Given the description of an element on the screen output the (x, y) to click on. 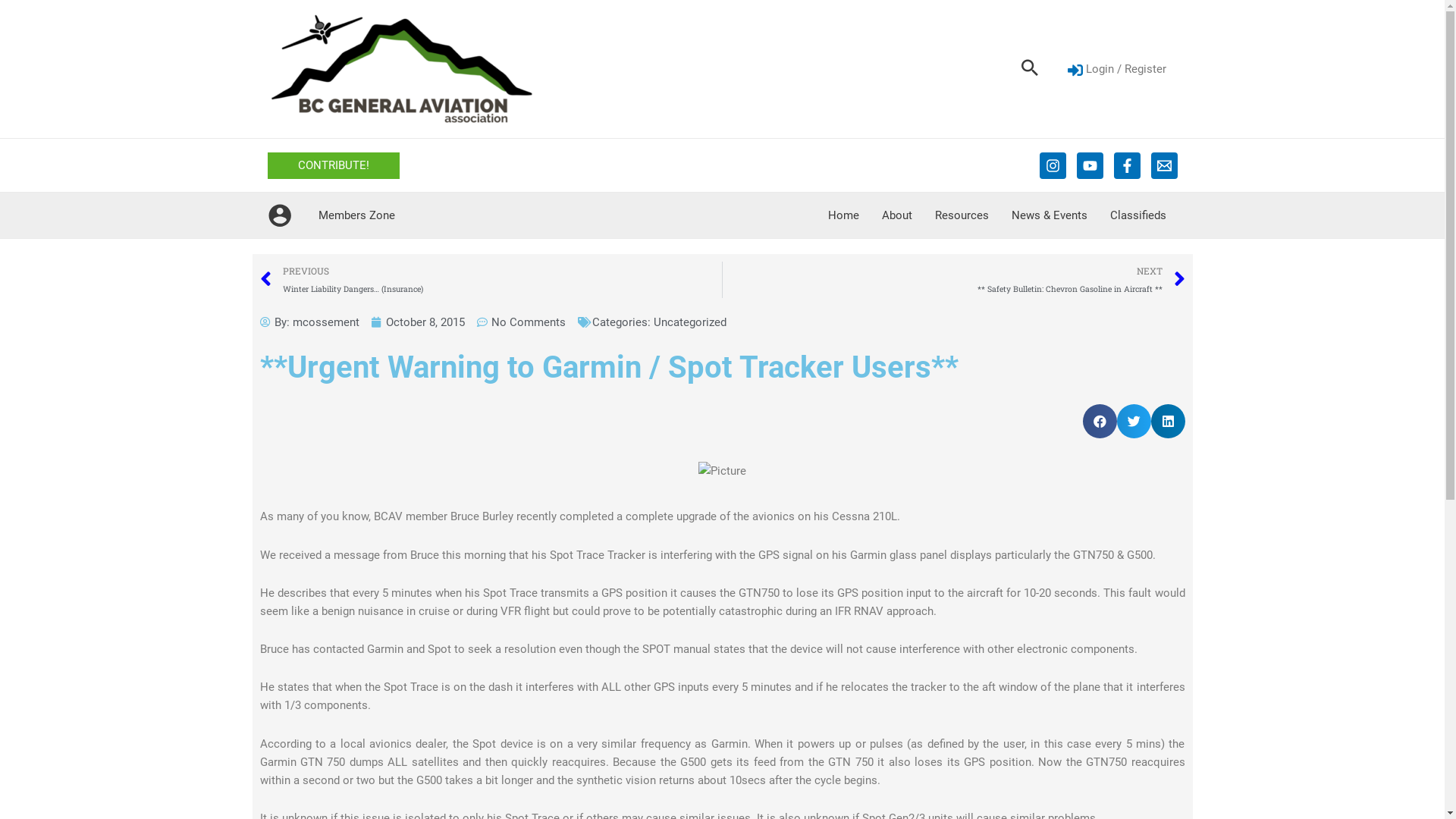
Log In Element type: text (696, 628)
Uncategorized Element type: text (689, 322)
Resources Element type: text (961, 215)
Members Zone Element type: text (355, 215)
Login / Register Element type: text (1115, 68)
News & Events Element type: text (1048, 215)
October 8, 2015 Element type: text (417, 322)
Classifieds Element type: text (1137, 215)
No Comments Element type: text (520, 322)
CONTRIBUTE! Element type: text (332, 164)
By: mcossement Element type: text (308, 322)
Home Element type: text (842, 215)
About Element type: text (896, 215)
